Given the description of an element on the screen output the (x, y) to click on. 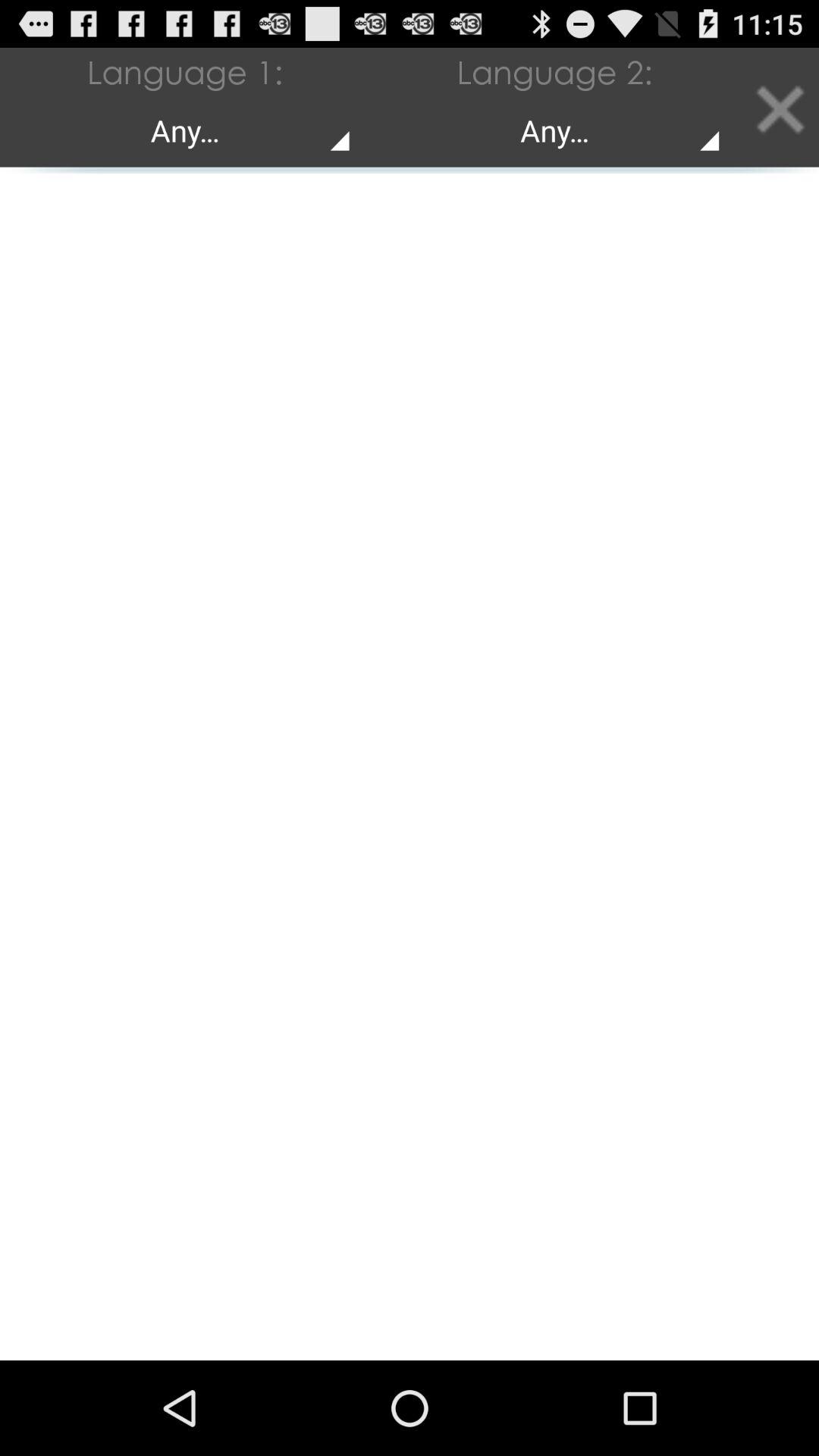
close window (779, 107)
